Given the description of an element on the screen output the (x, y) to click on. 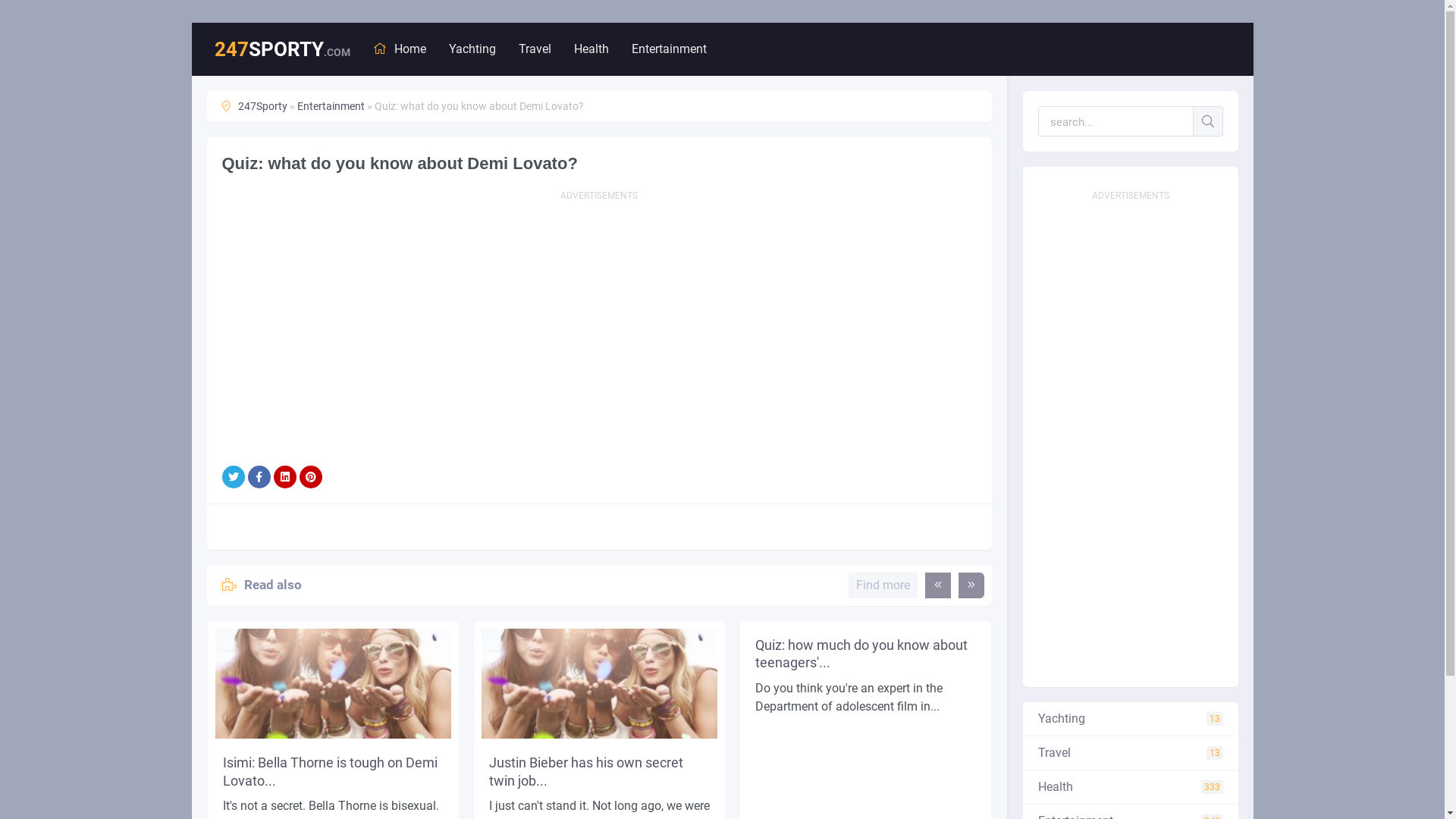
Isimi: Bella Thorne is tough on Demi Lovato... Element type: text (332, 771)
Advertisement Element type: hover (598, 313)
Entertainment Element type: text (330, 106)
Health Element type: text (1129, 787)
Yachting Element type: text (471, 48)
Travel Element type: text (1129, 753)
Yachting Element type: text (1129, 719)
Health Element type: text (590, 48)
Home Element type: text (399, 48)
247Sporty Element type: text (262, 106)
Travel Element type: text (534, 48)
Entertainment Element type: text (668, 48)
247SPORTY.COM Element type: text (281, 48)
Find more Element type: text (881, 585)
Advertisement Element type: hover (1129, 434)
Quiz: how much do you know about teenagers'... Element type: text (865, 653)
Justin Bieber has his own secret twin job... Element type: text (598, 771)
